Given the description of an element on the screen output the (x, y) to click on. 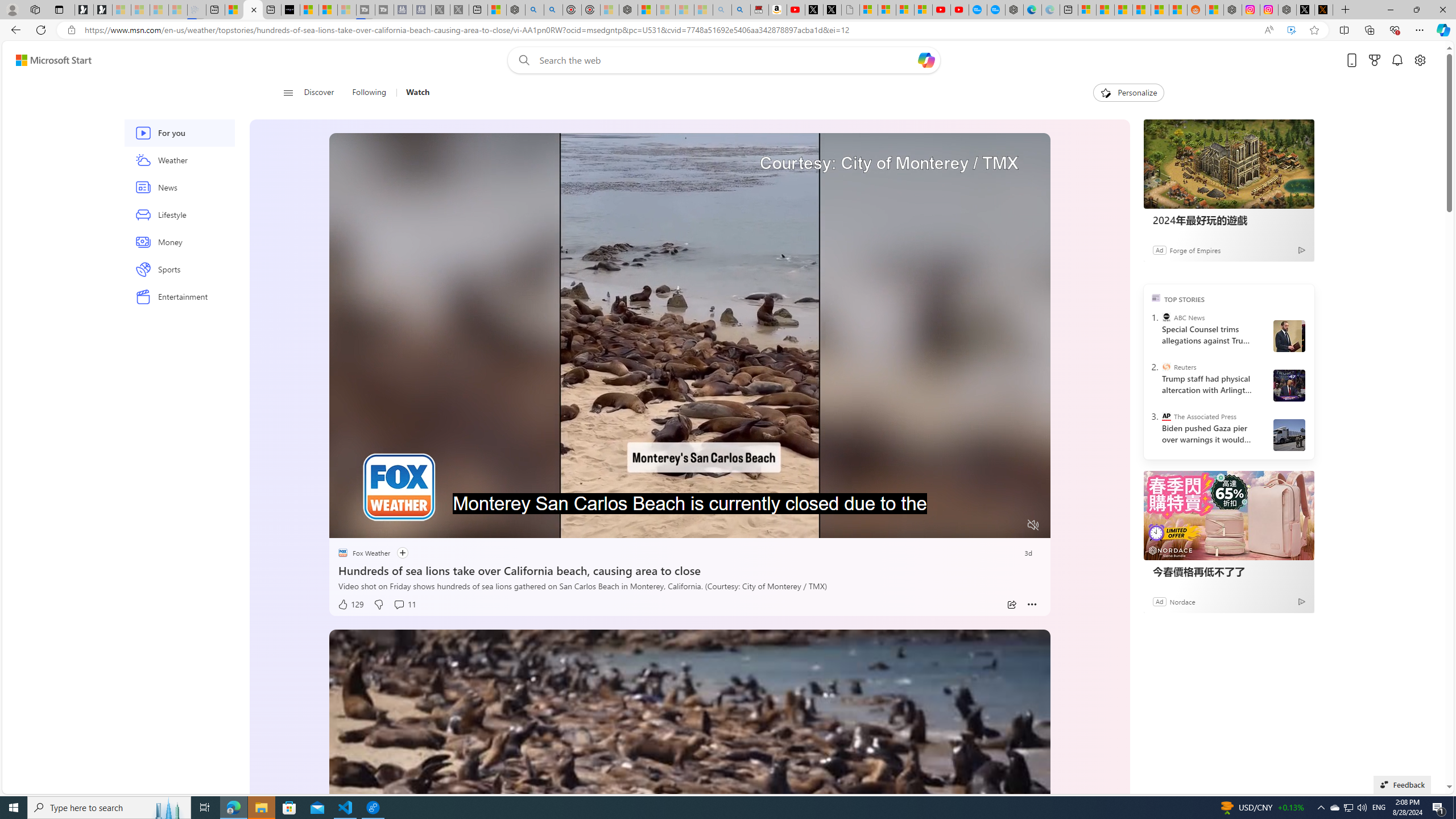
More (1031, 604)
Shanghai, China Weather trends | Microsoft Weather (1178, 9)
help.x.com | 524: A timeout occurred (1324, 9)
poe ++ standard - Search (552, 9)
Seek Back (368, 525)
